Given the description of an element on the screen output the (x, y) to click on. 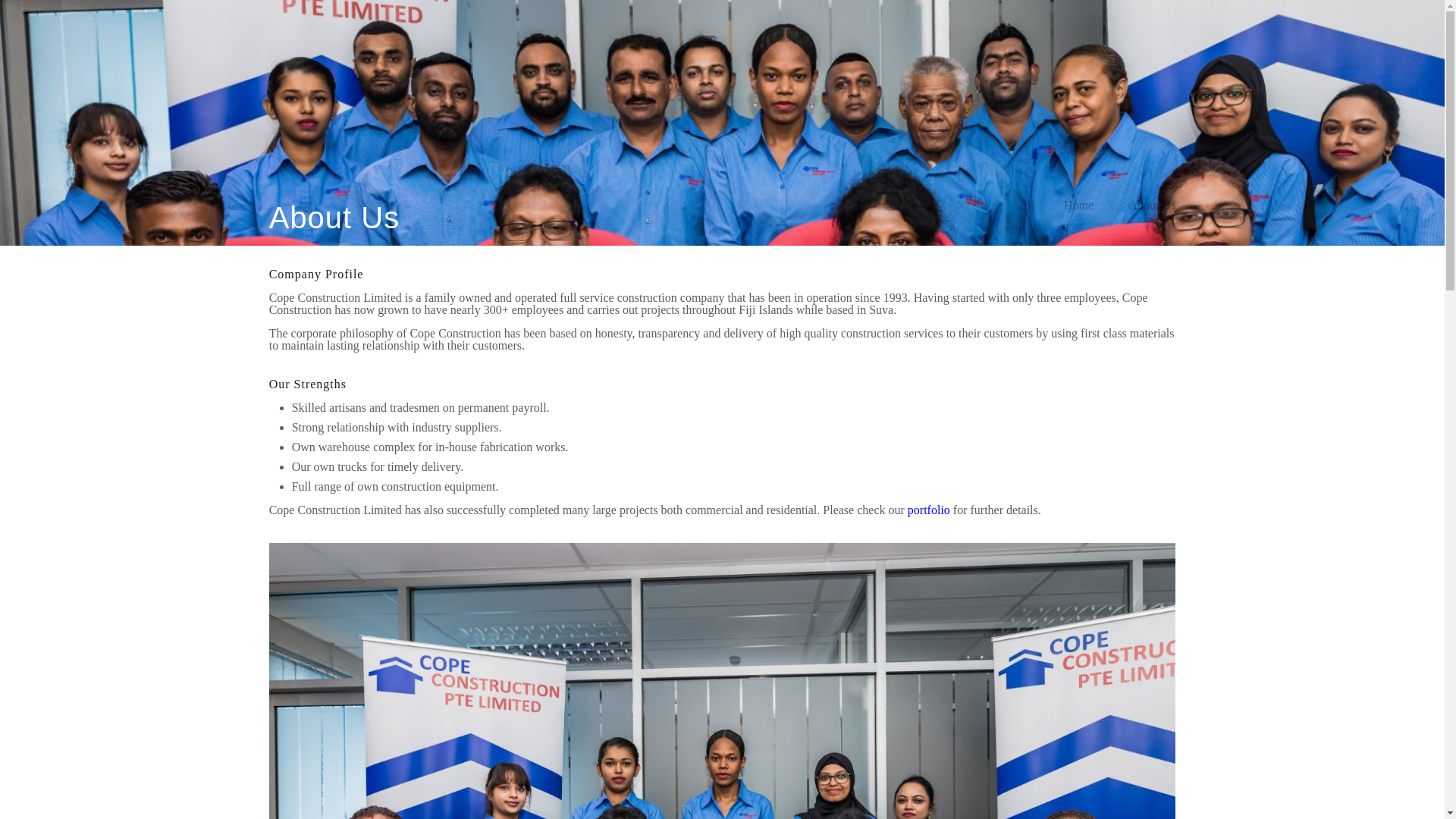
Home (1078, 205)
About Us (1151, 205)
portfolio (928, 509)
